Given the description of an element on the screen output the (x, y) to click on. 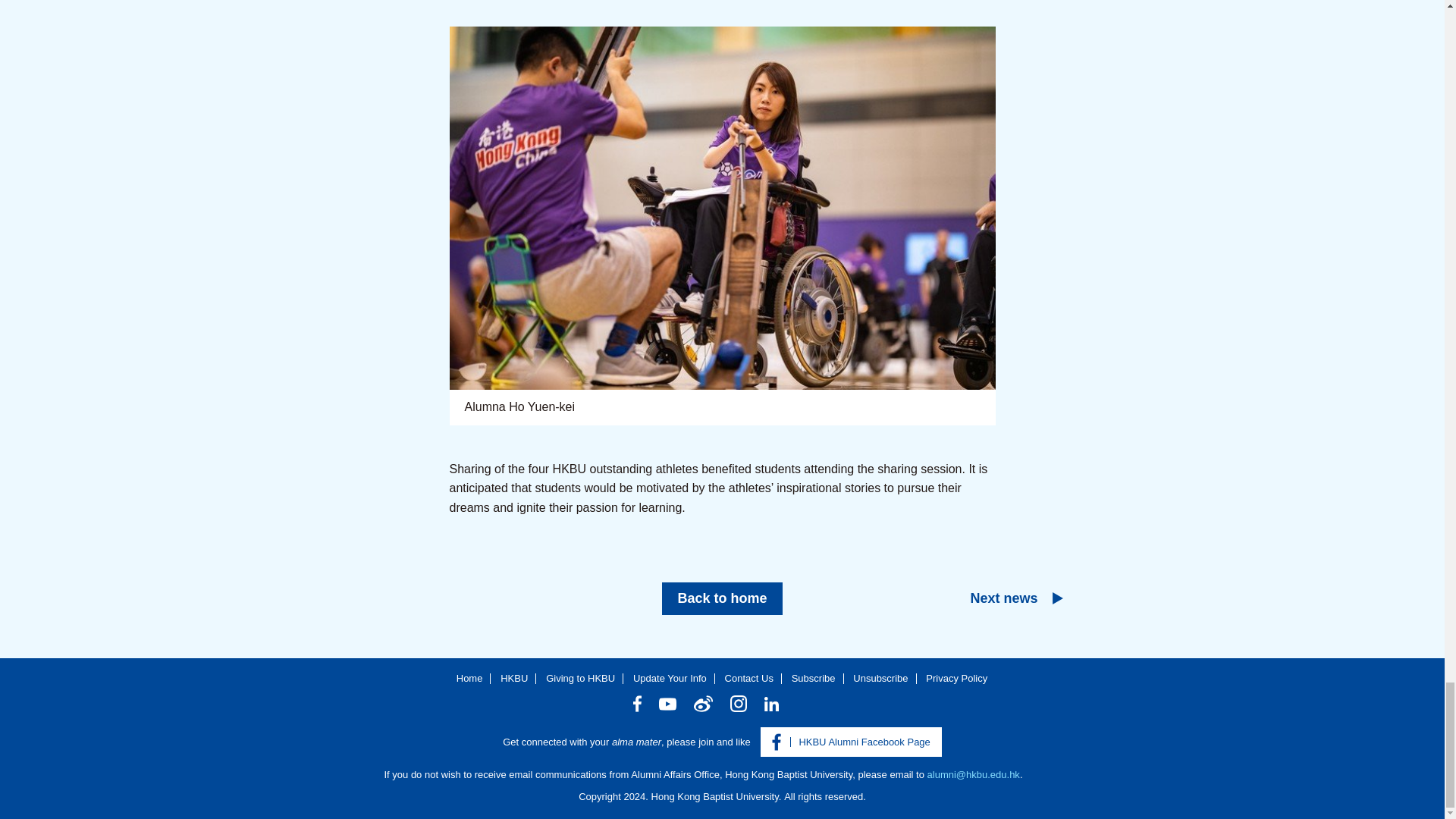
Back to home (721, 598)
Giving to HKBU (580, 677)
HKBU Alumni Facebook Page (851, 741)
YouTube (667, 703)
Home (470, 677)
Weibo (703, 703)
Subscribe (813, 677)
HKBU (513, 677)
Update Your Info (669, 677)
Twitter (802, 703)
